Given the description of an element on the screen output the (x, y) to click on. 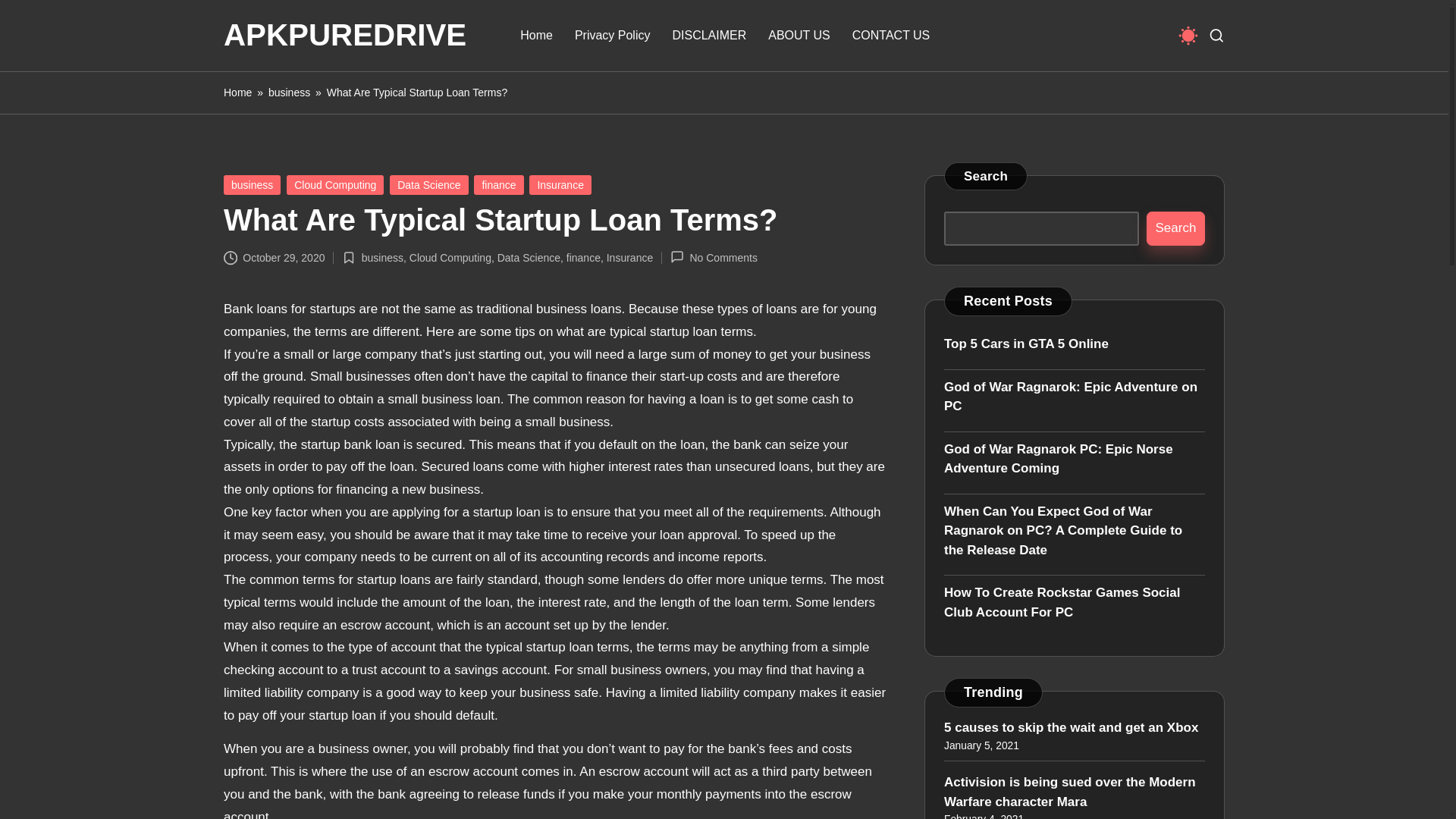
Top 5 Cars in GTA 5 Online (1074, 343)
God of War Ragnarok PC: Epic Norse Adventure Coming (1074, 458)
Data Science (528, 257)
How To Create Rockstar Games Social Club Account For PC (1074, 602)
Home (237, 92)
Privacy Policy (612, 35)
Insurance (629, 257)
APKPUREDRIVE (344, 35)
Search (1176, 228)
Insurance (560, 184)
